Given the description of an element on the screen output the (x, y) to click on. 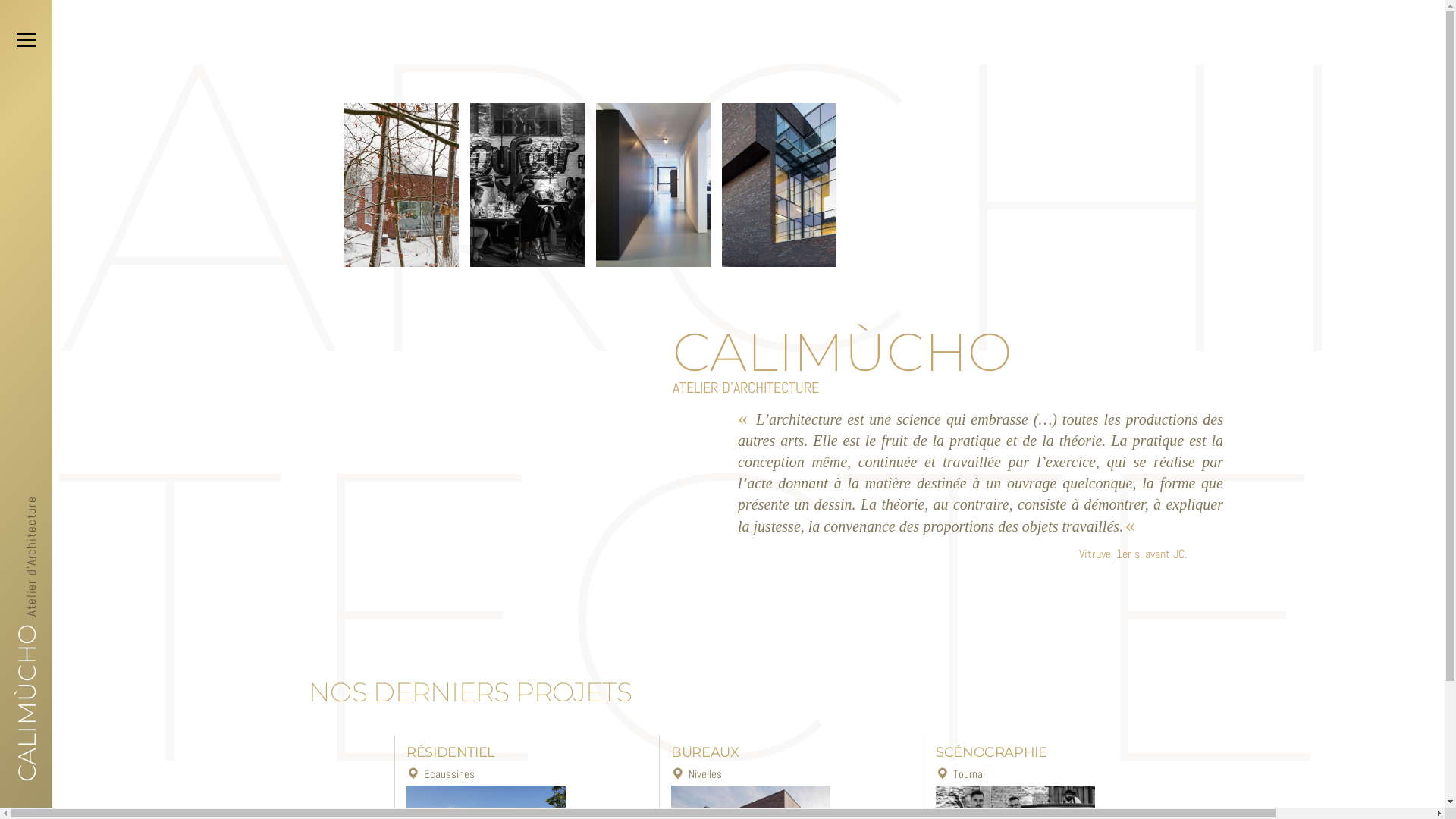
Menu Element type: text (26, 39)
